Given the description of an element on the screen output the (x, y) to click on. 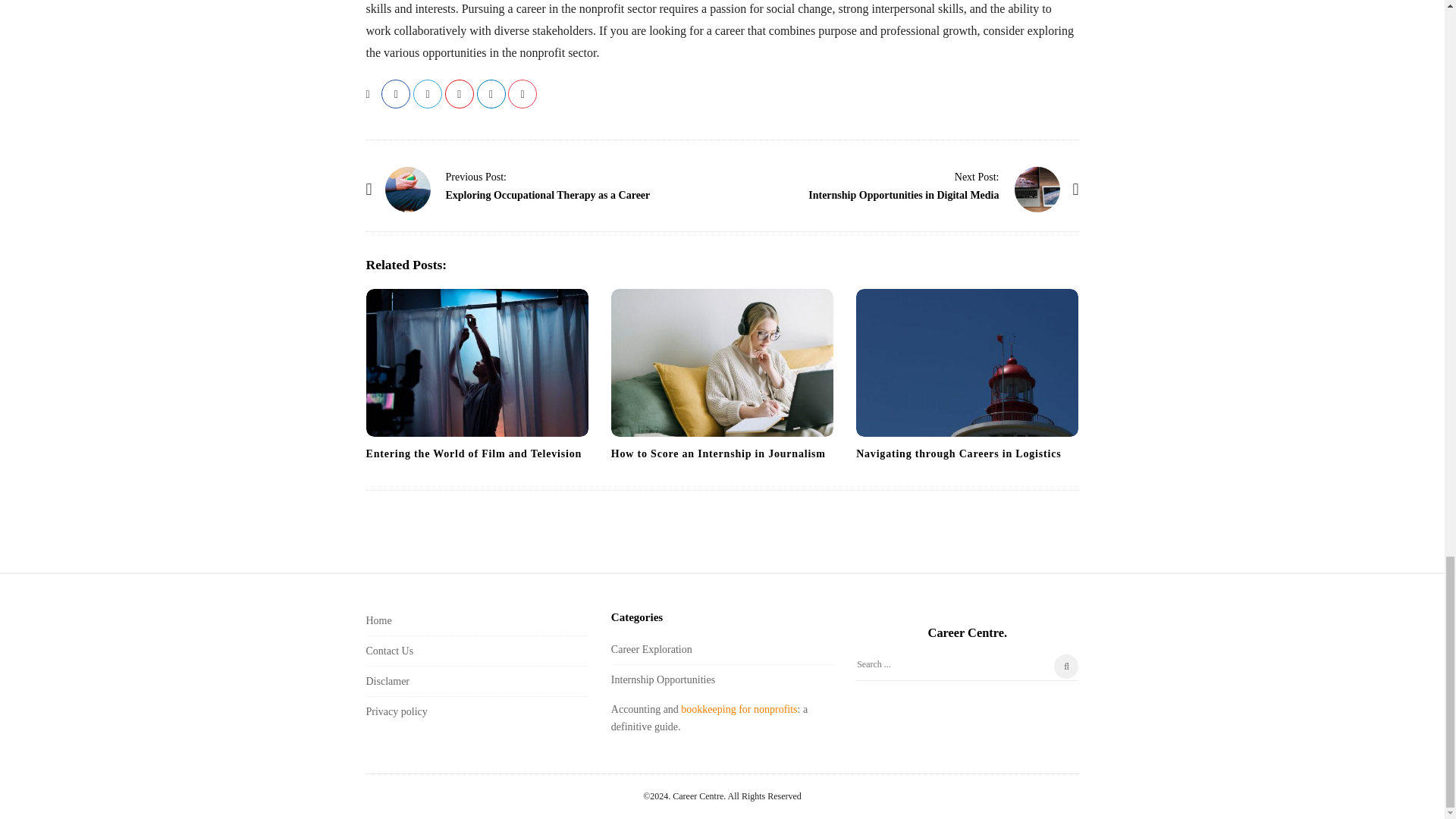
Exploring Occupational Therapy as a Career (475, 176)
Navigating through Careers in Logistics (958, 453)
Exploring Occupational Therapy as a Career (547, 194)
Next Post: (976, 176)
Internship Opportunities in Digital Media (903, 194)
Entering the World of Film and Television (472, 453)
How to Score an Internship in Journalism (718, 453)
How to Score an Internship in Journalism (718, 453)
Entering the World of Film and Television (472, 453)
Internship Opportunities in Digital Media (1036, 189)
Navigating through Careers in Logistics (967, 362)
Entering the World of Film and Television (476, 362)
Previous Post: (475, 176)
Exploring Occupational Therapy as a Career (407, 189)
Internship Opportunities in Digital Media (976, 176)
